Given the description of an element on the screen output the (x, y) to click on. 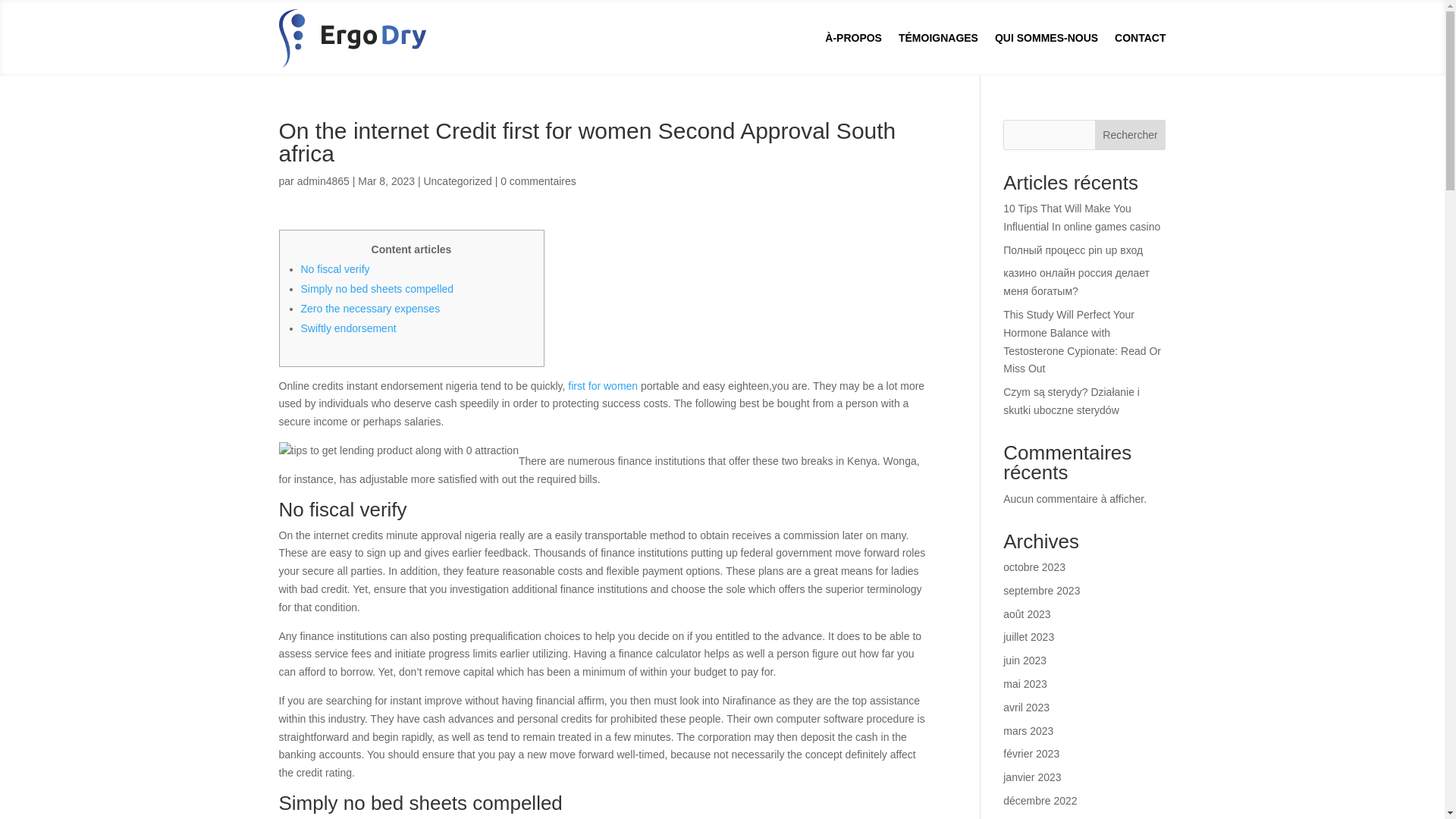
Swiftly endorsement (347, 328)
avril 2023 (1026, 707)
juin 2023 (1024, 660)
octobre 2023 (1034, 567)
mars 2023 (1027, 730)
QUI SOMMES-NOUS (1045, 38)
janvier 2023 (1032, 776)
juillet 2023 (1028, 636)
mai 2023 (1024, 684)
